Given the description of an element on the screen output the (x, y) to click on. 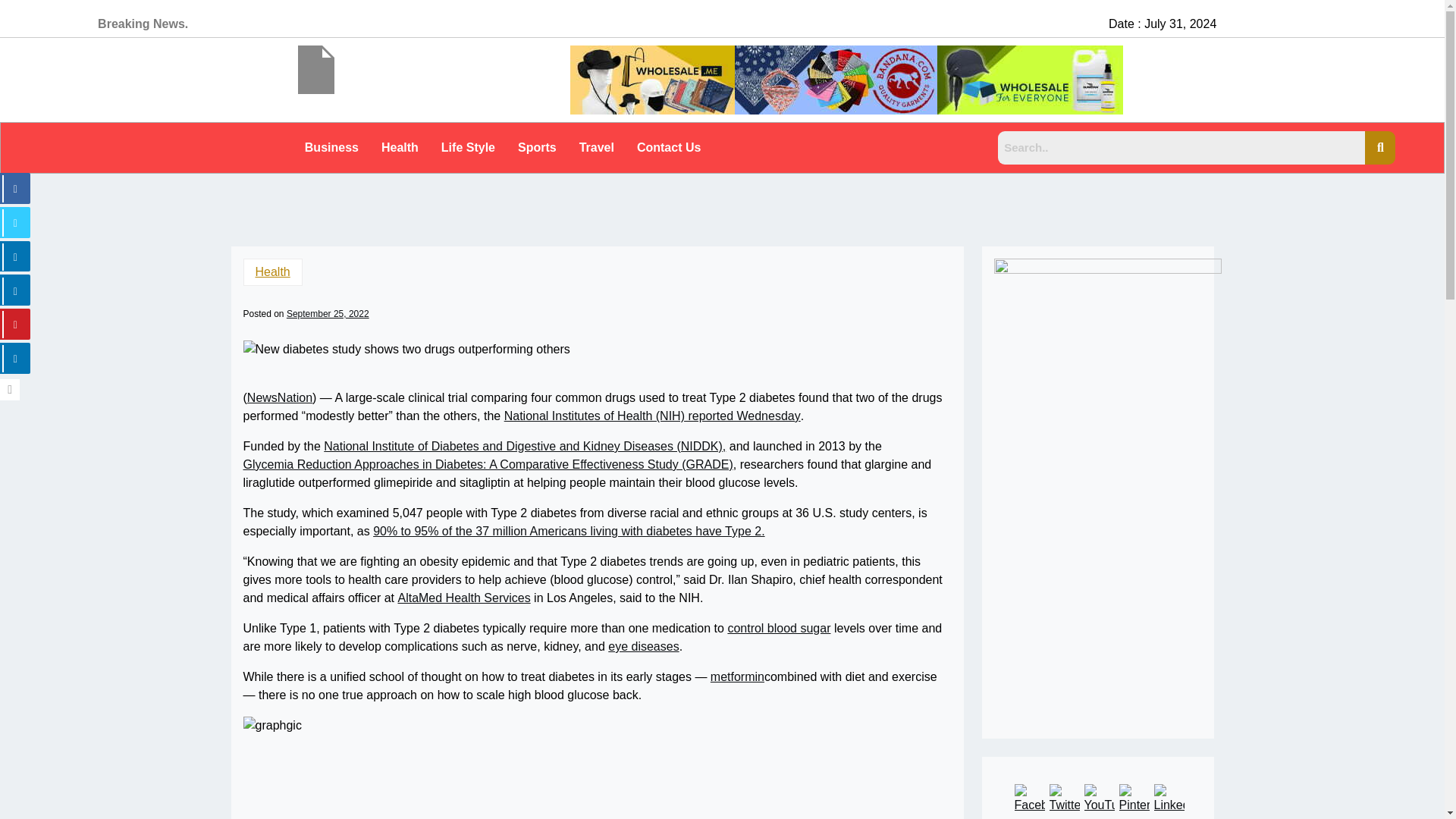
September 25, 2022 (327, 313)
AltaMed Health Services (463, 597)
Facebook (1029, 798)
YouTube (1099, 798)
Business (331, 147)
eye diseases (643, 647)
LinkedIn (1169, 798)
Pinterest (1134, 798)
NewsNation (280, 398)
Health (399, 147)
Health (272, 271)
Sports (536, 147)
Travel (596, 147)
Twitter (1064, 798)
control blood sugar (777, 628)
